Given the description of an element on the screen output the (x, y) to click on. 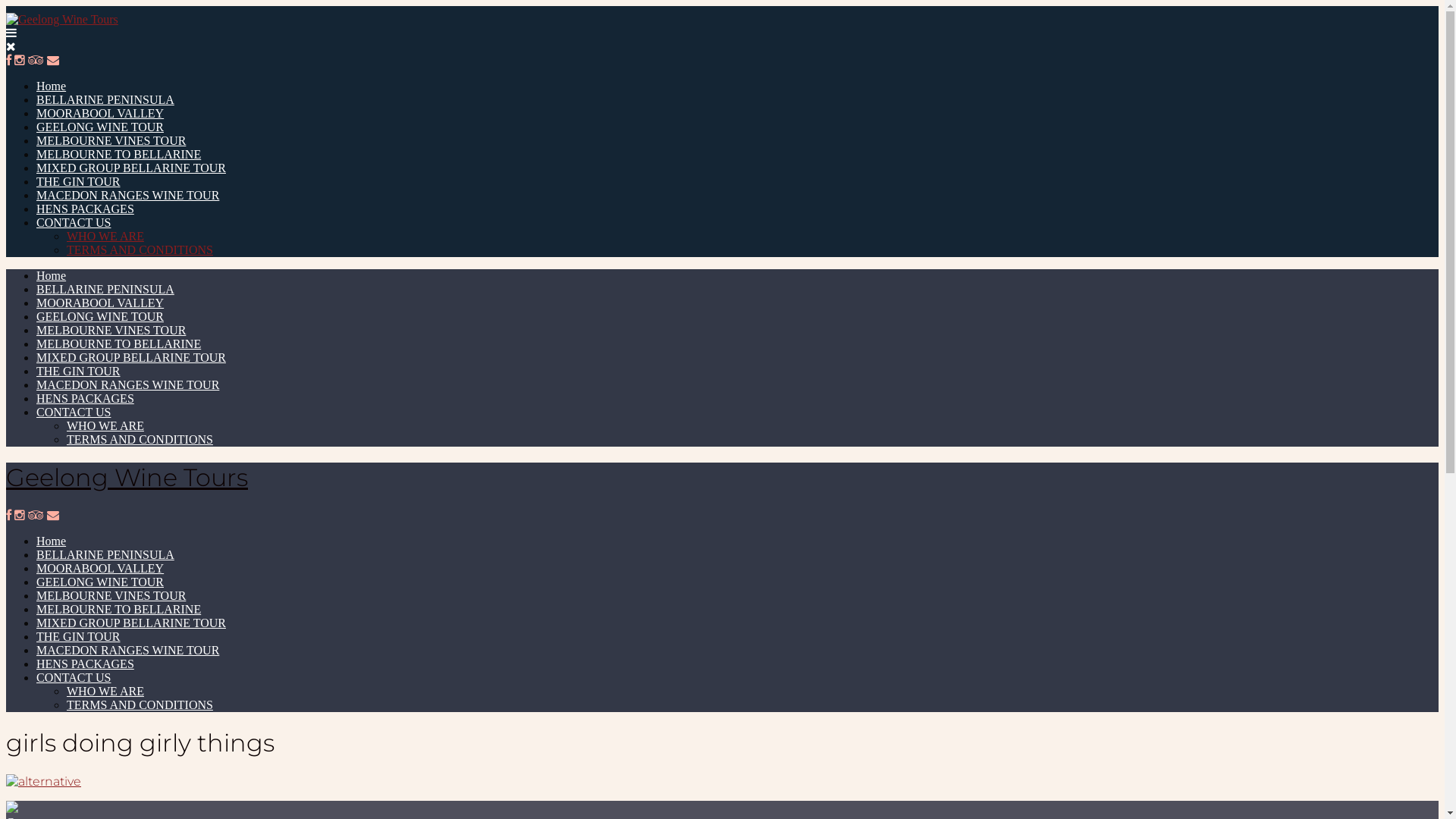
WHO WE ARE Element type: text (105, 425)
HENS PACKAGES Element type: text (85, 663)
MELBOURNE VINES TOUR Element type: text (110, 329)
THE GIN TOUR Element type: text (78, 181)
MACEDON RANGES WINE TOUR Element type: text (127, 384)
CONTACT US Element type: text (73, 677)
MELBOURNE TO BELLARINE Element type: text (118, 343)
MELBOURNE TO BELLARINE Element type: text (118, 608)
TERMS AND CONDITIONS Element type: text (139, 704)
MACEDON RANGES WINE TOUR Element type: text (127, 194)
CONTACT US Element type: text (73, 222)
Home Element type: text (50, 275)
TERMS AND CONDITIONS Element type: text (139, 439)
CONTACT US Element type: text (73, 411)
GEELONG WINE TOUR Element type: text (99, 316)
GEELONG WINE TOUR Element type: text (99, 126)
TERMS AND CONDITIONS Element type: text (139, 249)
MIXED GROUP BELLARINE TOUR Element type: text (130, 622)
GEELONG WINE TOUR Element type: text (99, 581)
THE GIN TOUR Element type: text (78, 636)
MOORABOOL VALLEY Element type: text (99, 112)
THE GIN TOUR Element type: text (78, 370)
HENS PACKAGES Element type: text (85, 208)
BELLARINE PENINSULA Element type: text (105, 99)
HENS PACKAGES Element type: text (85, 398)
MELBOURNE VINES TOUR Element type: text (110, 140)
Home Element type: text (50, 85)
MOORABOOL VALLEY Element type: text (99, 567)
MACEDON RANGES WINE TOUR Element type: text (127, 649)
Geelong Wine Tours Element type: text (126, 477)
WHO WE ARE Element type: text (105, 235)
Home Element type: text (50, 540)
MIXED GROUP BELLARINE TOUR Element type: text (130, 167)
BELLARINE PENINSULA Element type: text (105, 554)
BELLARINE PENINSULA Element type: text (105, 288)
WHO WE ARE Element type: text (105, 690)
MELBOURNE TO BELLARINE Element type: text (118, 153)
MELBOURNE VINES TOUR Element type: text (110, 595)
MOORABOOL VALLEY Element type: text (99, 302)
MIXED GROUP BELLARINE TOUR Element type: text (130, 357)
